Given the description of an element on the screen output the (x, y) to click on. 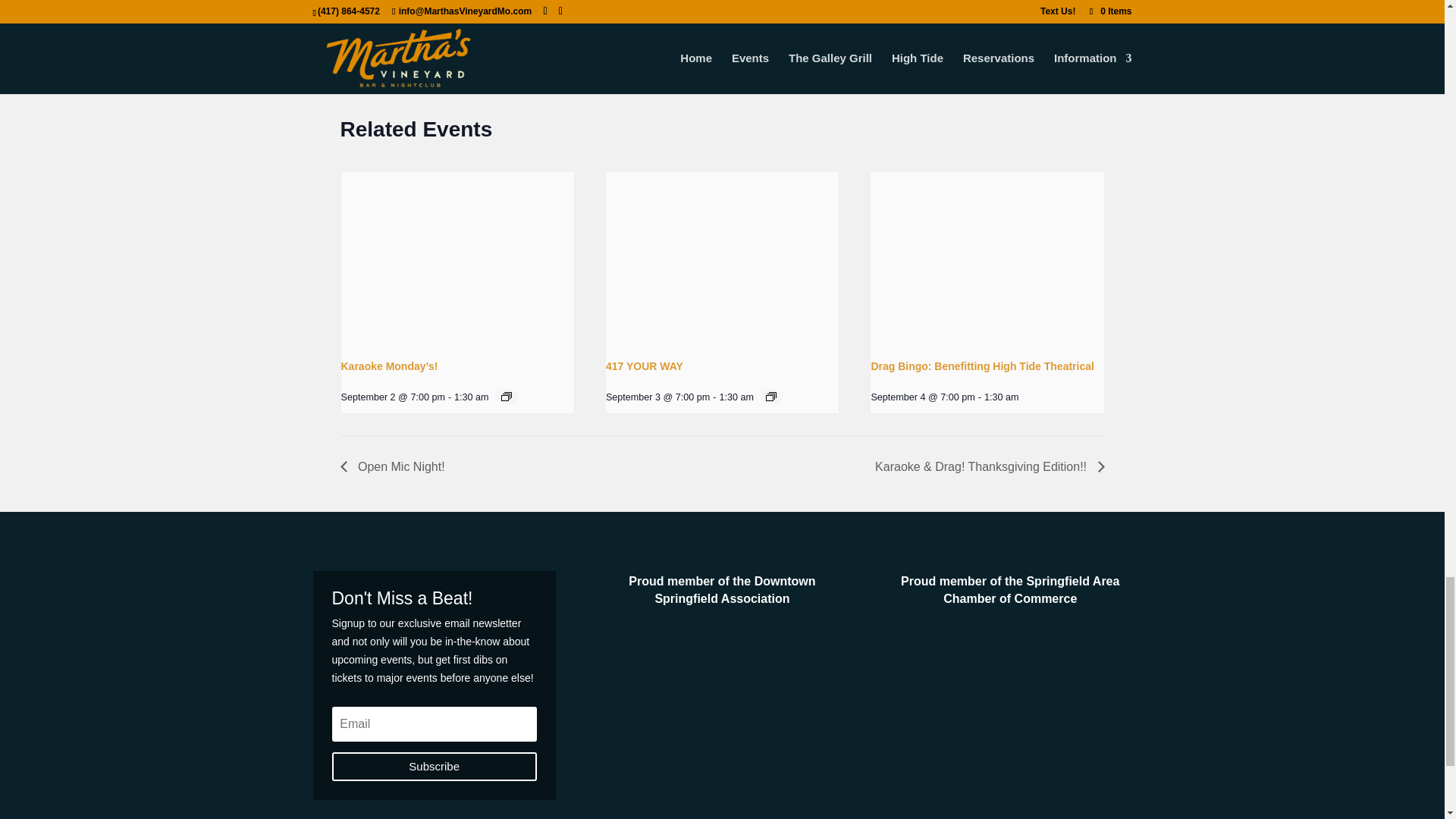
Special Events (374, 51)
417 YOUR WAY (643, 366)
Click to view a Google Map (539, 9)
Event Series (506, 396)
Drag Bingo: Benefitting High Tide Theatrical (982, 366)
Weekdays (440, 51)
Event Series (770, 396)
2023-11-23 (403, 5)
